Given the description of an element on the screen output the (x, y) to click on. 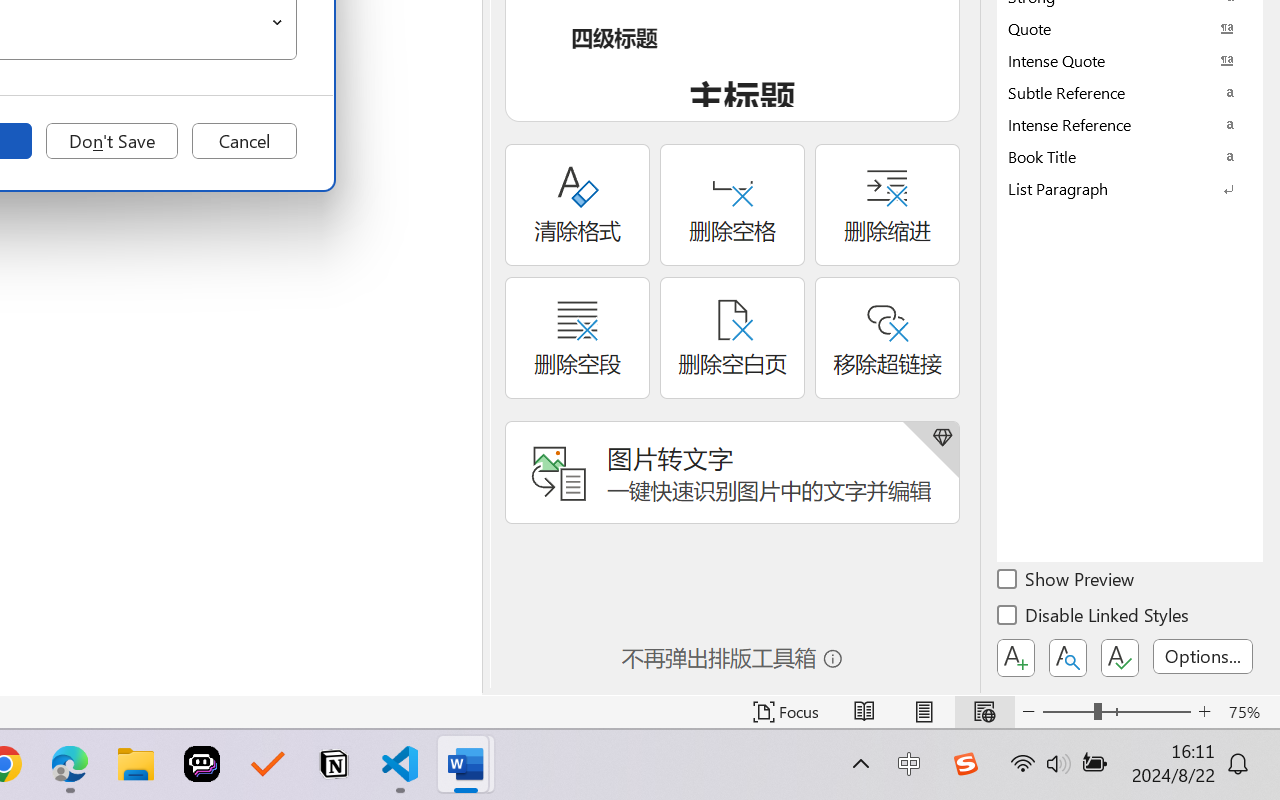
Options... (1203, 656)
Class: NetUIButton (1119, 657)
